Given the description of an element on the screen output the (x, y) to click on. 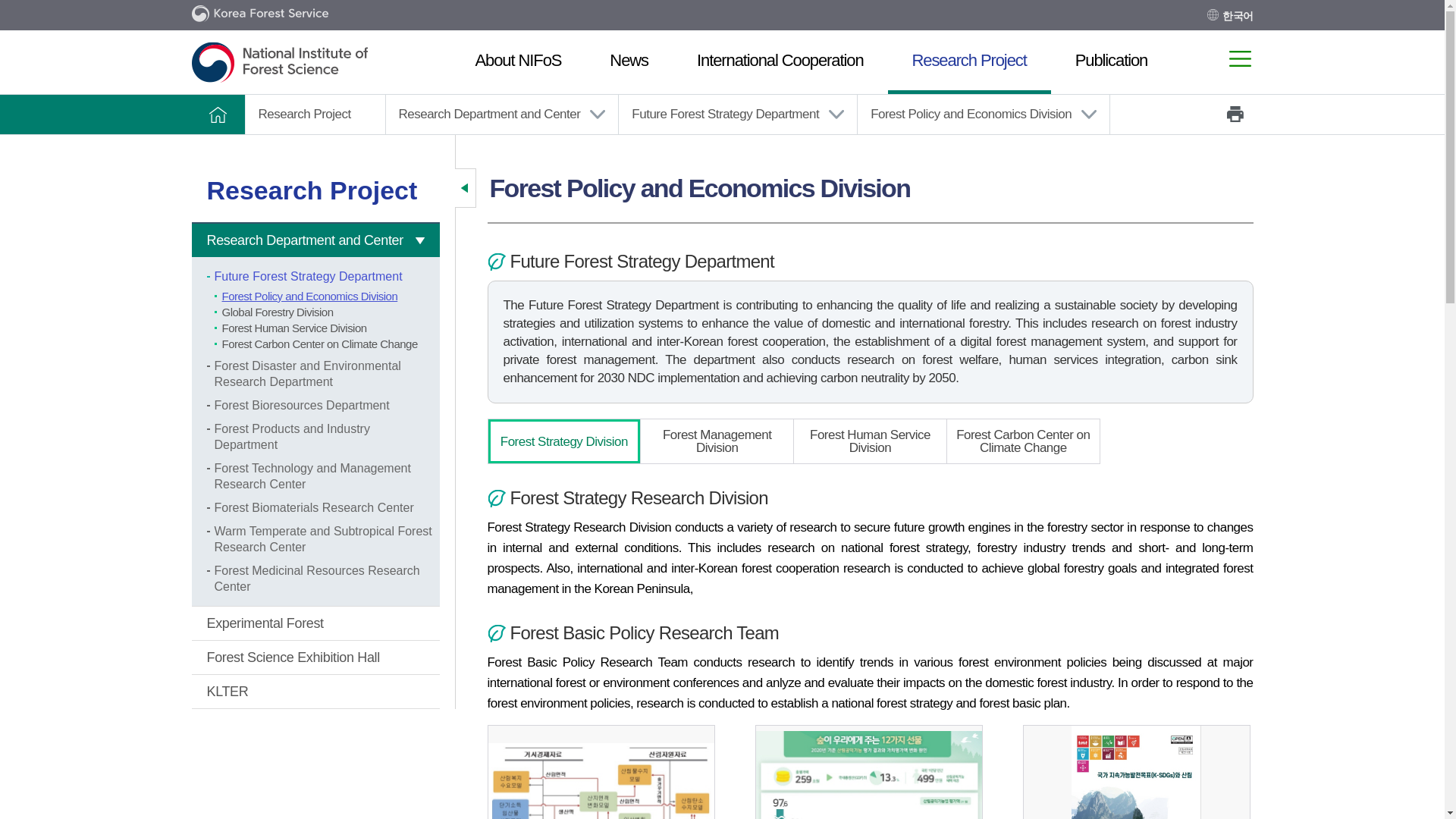
Publication (1099, 62)
International Cooperation (780, 62)
New Window (1237, 15)
Research Project (969, 62)
Site Map (1239, 58)
New Window (258, 15)
Research Project (969, 62)
News (628, 62)
About NIFoS (517, 62)
About NIFoS (517, 62)
